Given the description of an element on the screen output the (x, y) to click on. 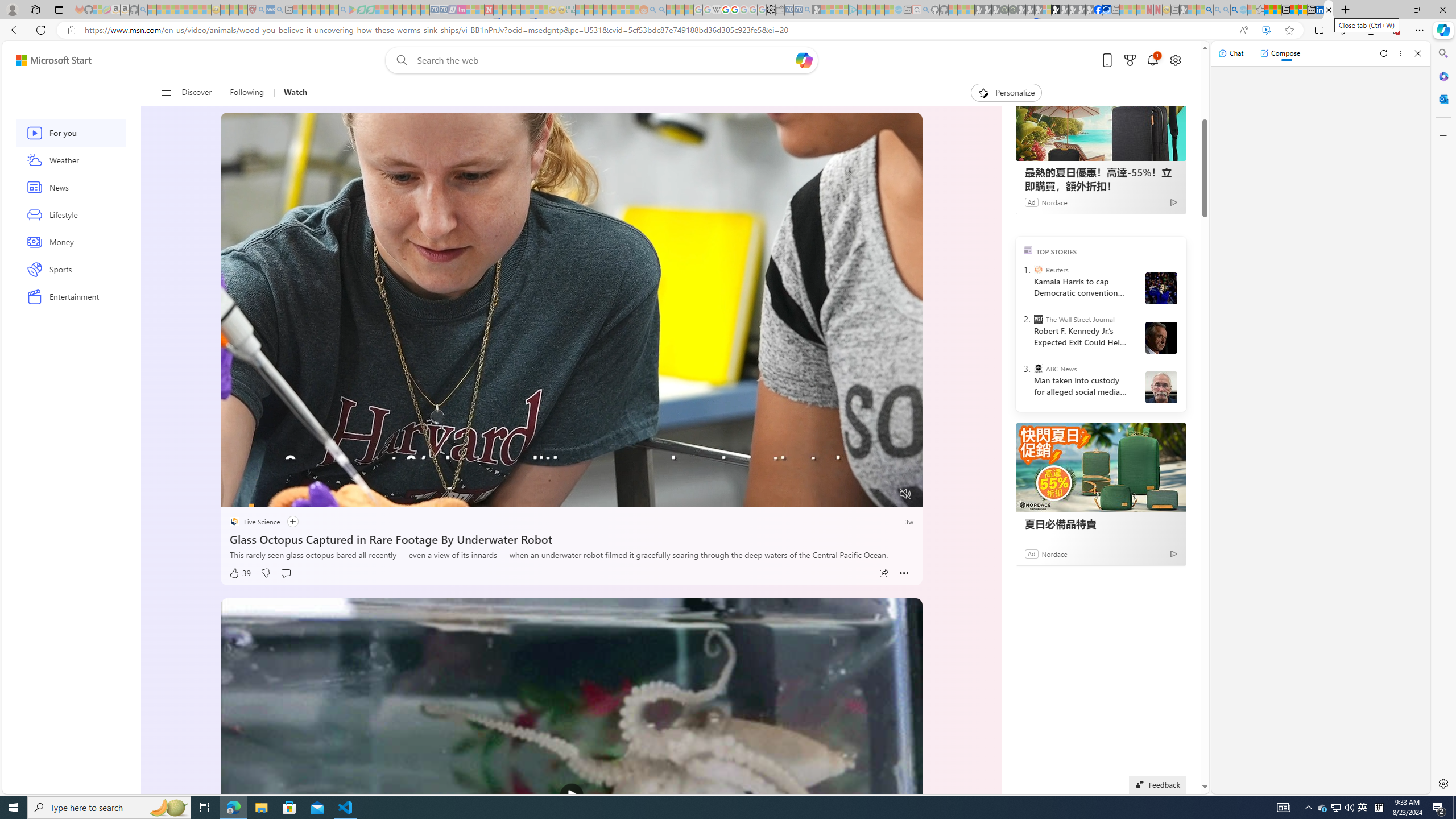
 Harris and Walz campaign in Wisconsin (1161, 288)
More (903, 573)
